Given the description of an element on the screen output the (x, y) to click on. 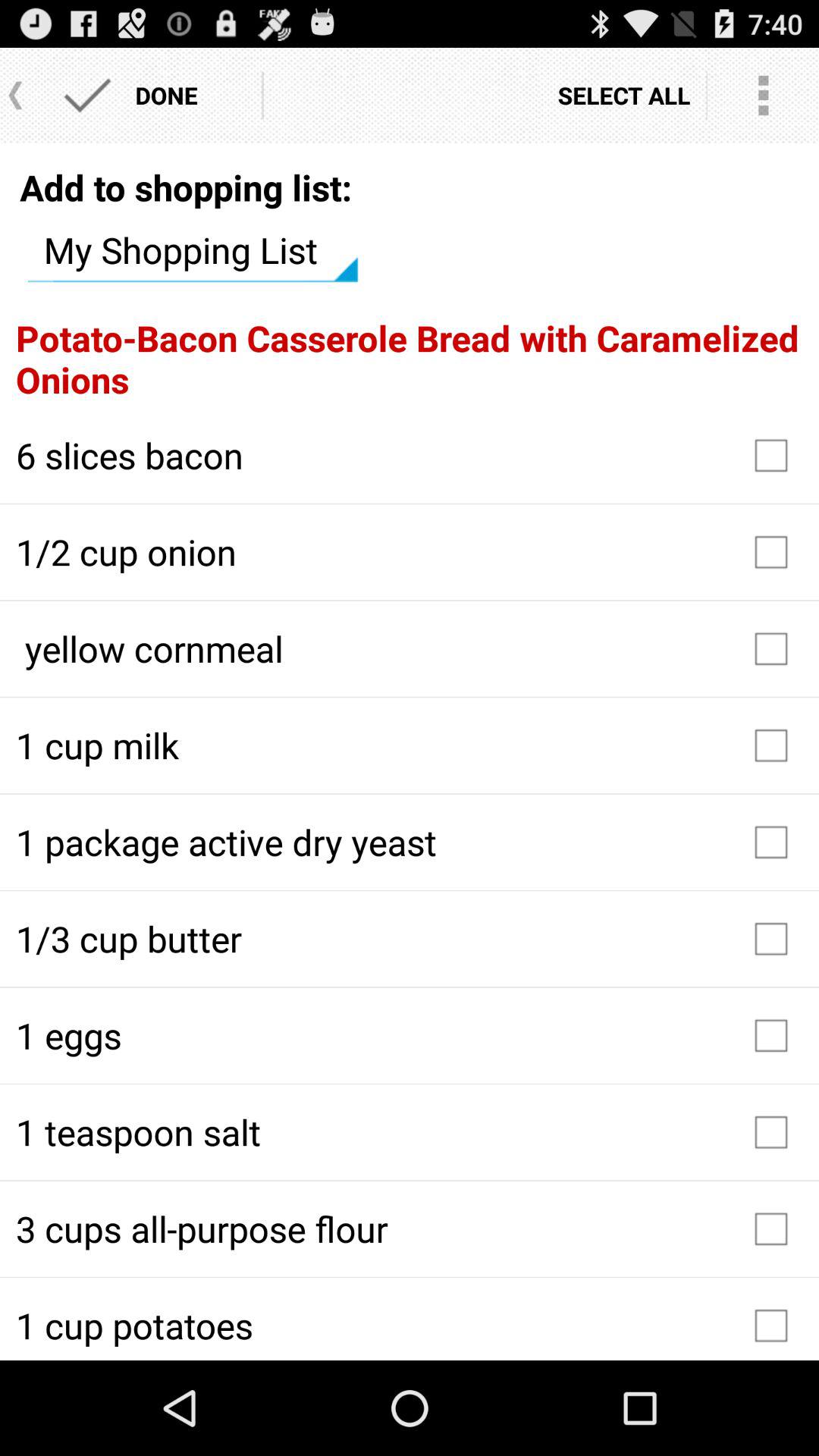
open item above the 1 teaspoon salt icon (409, 1035)
